Given the description of an element on the screen output the (x, y) to click on. 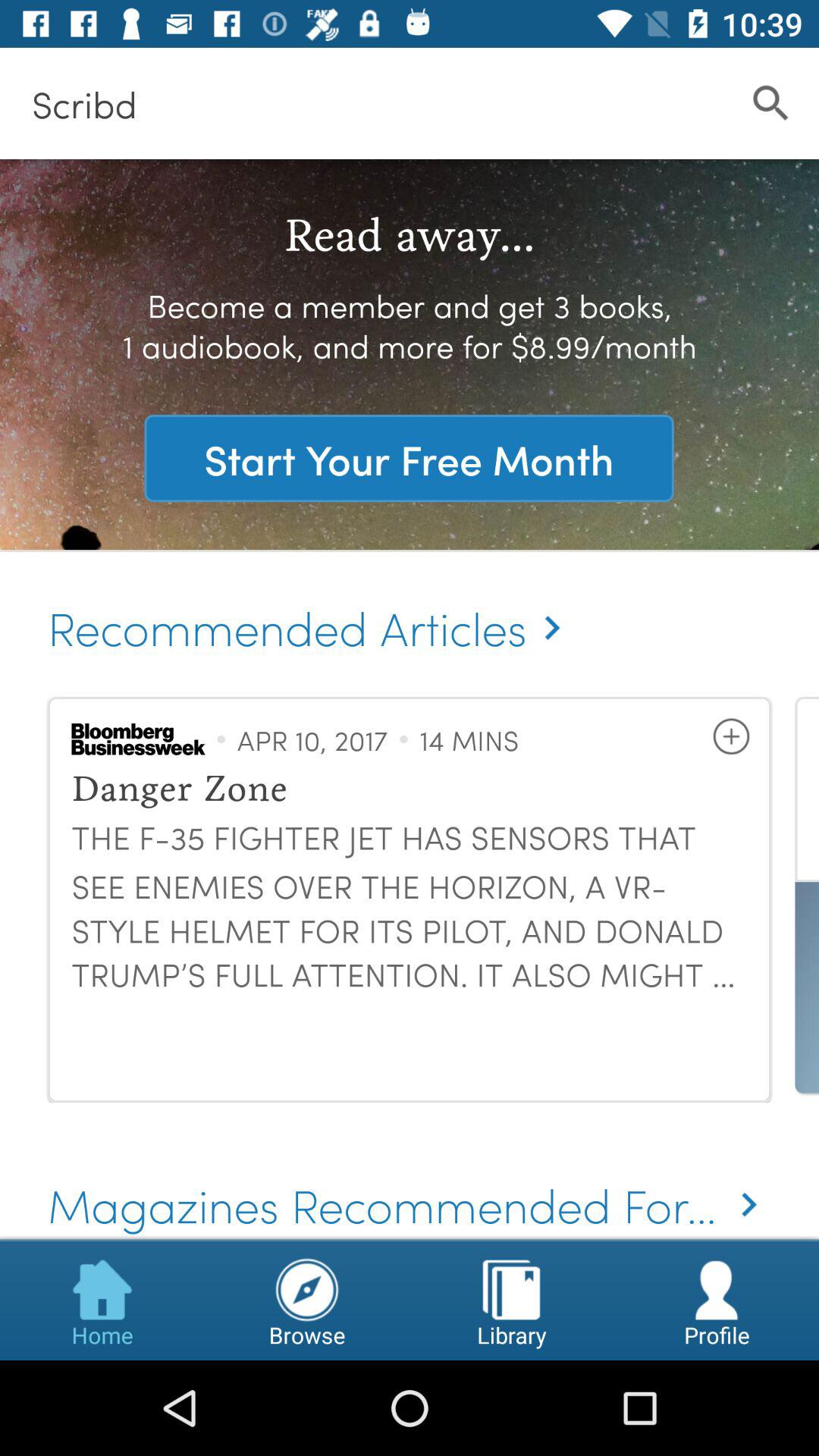
flip until start your free item (408, 458)
